Given the description of an element on the screen output the (x, y) to click on. 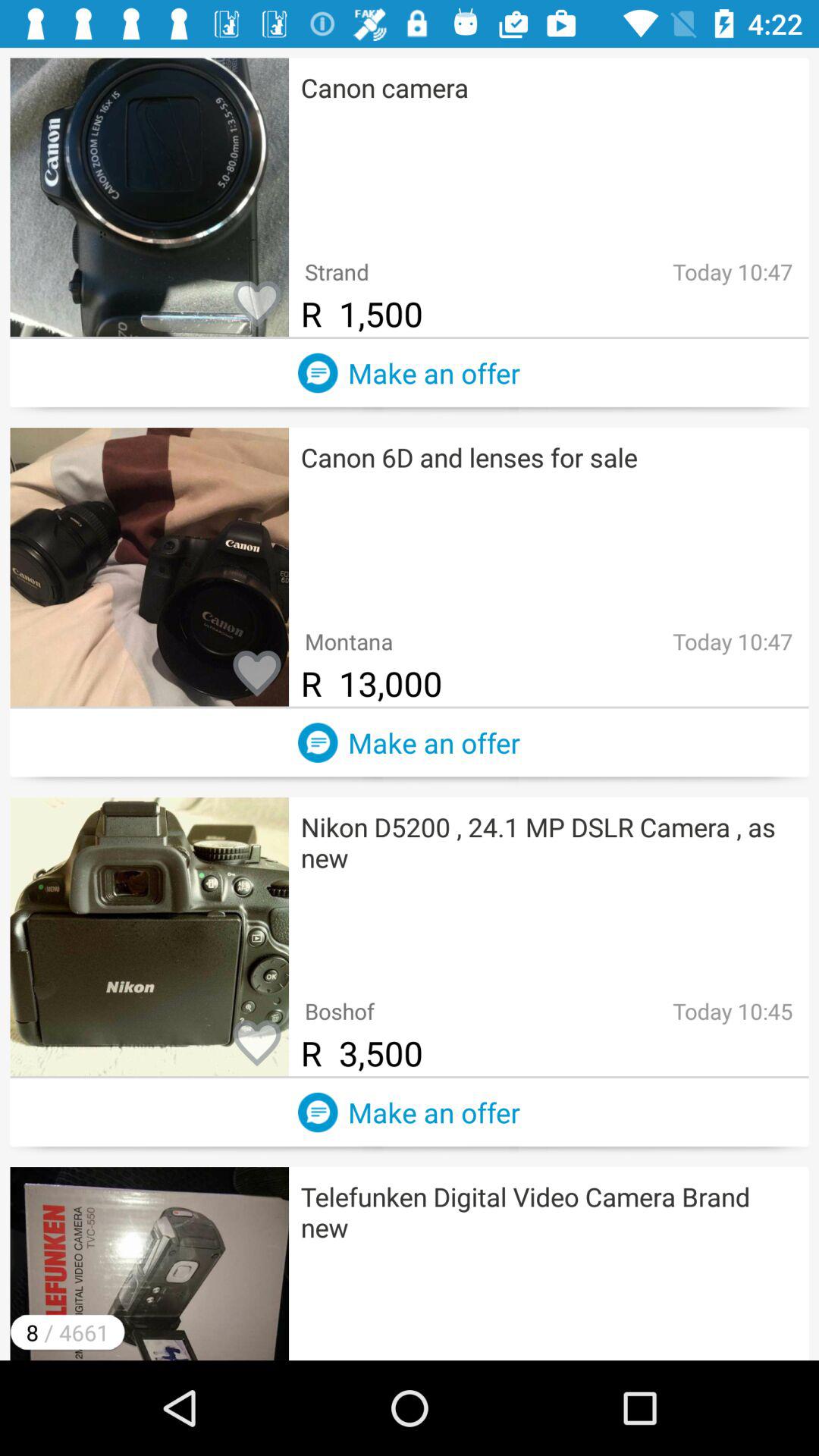
select make an offer (317, 373)
